Given the description of an element on the screen output the (x, y) to click on. 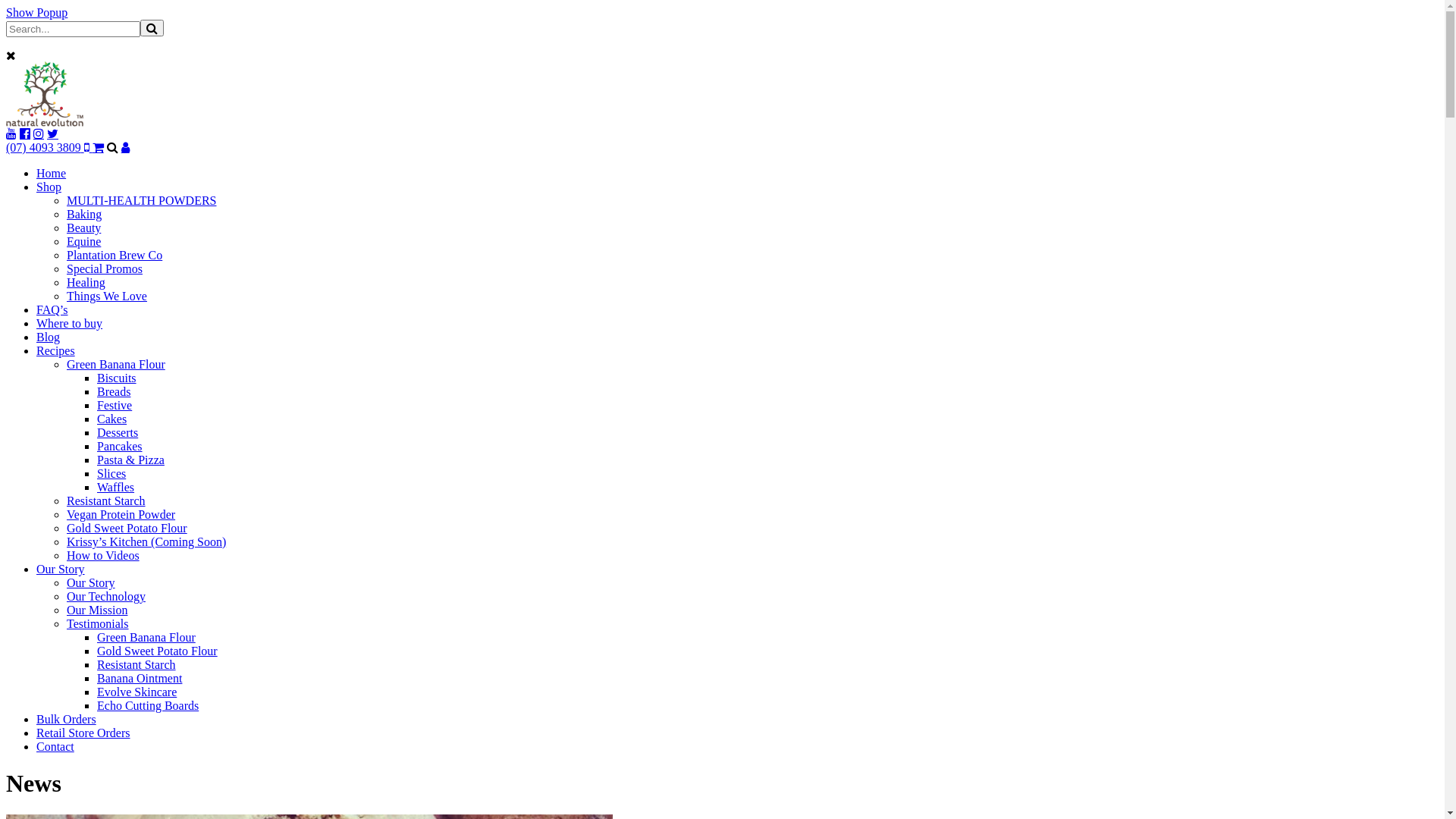
Blog Element type: text (47, 336)
Pasta & Pizza Element type: text (130, 459)
Breads Element type: text (113, 391)
Equine Element type: text (83, 241)
(07) 4093 3809 Element type: text (49, 147)
Baking Element type: text (83, 213)
Gold Sweet Potato Flour Element type: text (126, 527)
Shop Element type: text (48, 186)
Green Banana Flour Element type: text (115, 363)
Where to buy Element type: text (69, 322)
Show Popup Element type: text (36, 12)
Contact Element type: text (55, 746)
Our Mission Element type: text (96, 609)
instagram Element type: hover (38, 133)
Our Technology Element type: text (105, 595)
Pancakes Element type: text (119, 445)
Recipes Element type: text (55, 350)
Testimonials Element type: text (97, 623)
twitter Element type: hover (52, 133)
Green Banana Flour Element type: text (146, 636)
Cakes Element type: text (111, 418)
MULTI-HEALTH POWDERS Element type: text (141, 200)
Biscuits Element type: text (116, 377)
Echo Cutting Boards Element type: text (147, 705)
Youtube Element type: hover (11, 133)
cart Element type: hover (97, 147)
Retail Store Orders Element type: text (83, 732)
Festive Element type: text (114, 404)
Desserts Element type: text (117, 432)
How to Videos Element type: text (102, 555)
Slices Element type: text (111, 473)
Search Element type: text (151, 27)
Natural Evolution Foods Element type: hover (45, 122)
login Element type: hover (125, 147)
Things We Love Element type: text (106, 295)
Resistant Starch Element type: text (105, 500)
facebook Element type: hover (24, 133)
Special Promos Element type: text (104, 268)
Home Element type: text (50, 172)
Bulk Orders Element type: text (66, 718)
Evolve Skincare Element type: text (136, 691)
Beauty Element type: text (83, 227)
Gold Sweet Potato Flour Element type: text (157, 650)
Banana Ointment Element type: text (139, 677)
Plantation Brew Co Element type: text (114, 254)
Healing Element type: text (85, 282)
Waffles Element type: text (115, 486)
Our Story Element type: text (90, 582)
Vegan Protein Powder Element type: text (120, 514)
Our Story Element type: text (60, 568)
Resistant Starch Element type: text (136, 664)
